Given the description of an element on the screen output the (x, y) to click on. 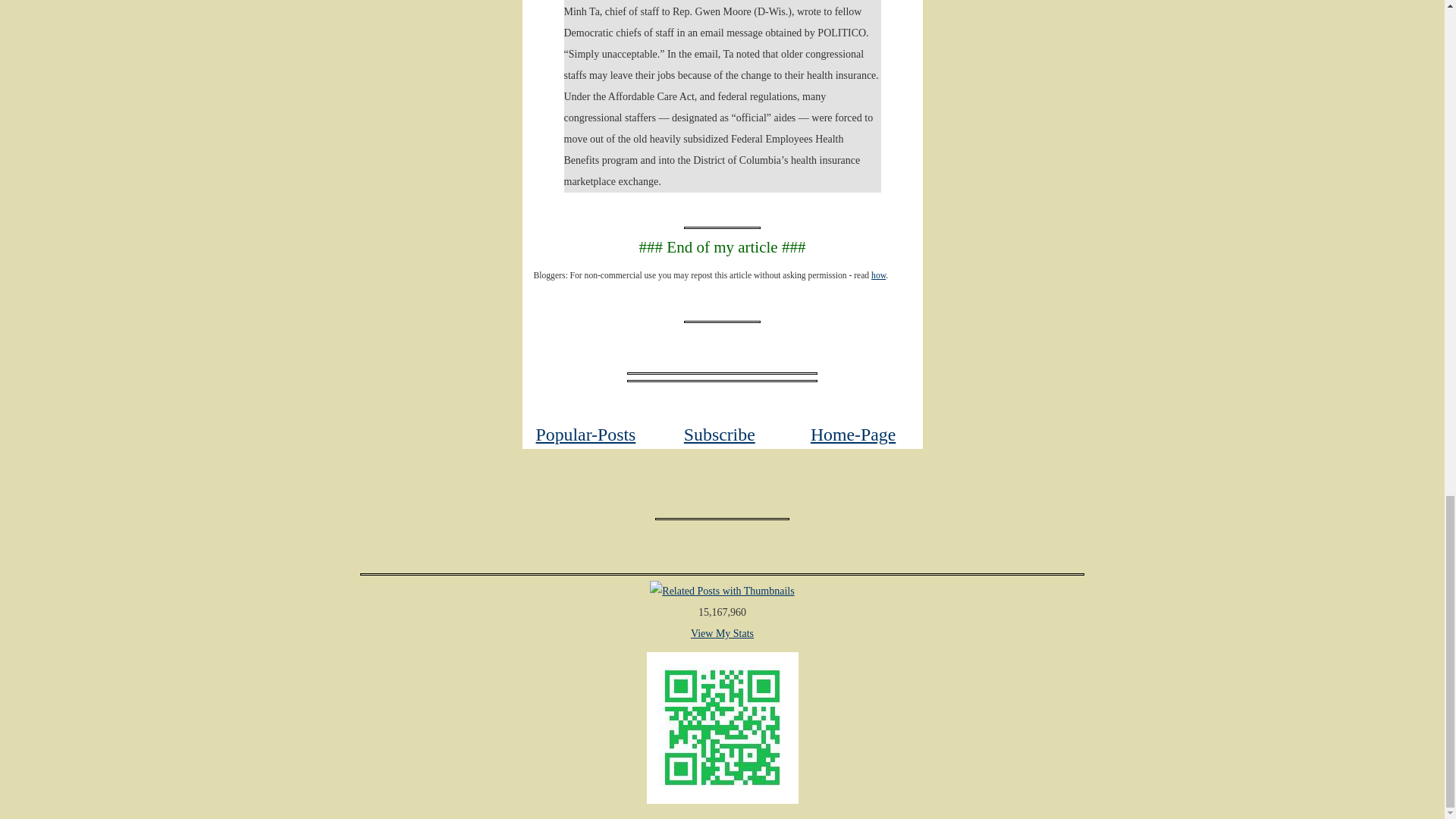
Home-Page (852, 434)
View My Stats (722, 633)
Subscribe (719, 434)
Popular-Posts (585, 434)
how (877, 275)
